Given the description of an element on the screen output the (x, y) to click on. 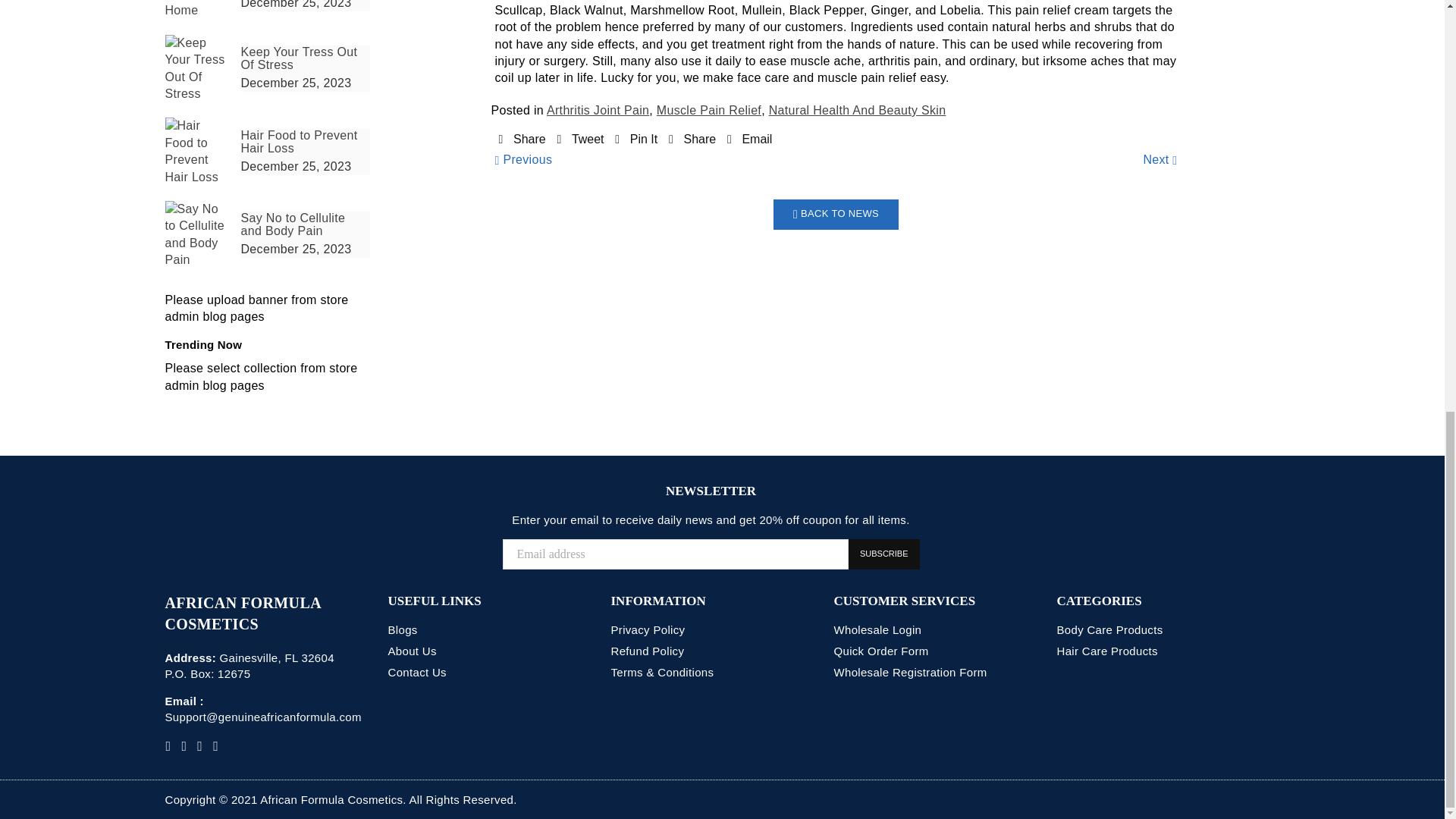
Natural Health And Beauty Skin (857, 110)
Previous (523, 159)
Tweet on Twitter (580, 139)
BACK TO NEWS (835, 214)
Muscle Pain Relief (708, 110)
Tweet (580, 139)
Share on Facebook (522, 139)
Share (522, 139)
Share on Linked In (692, 139)
Pin on Pinterest (636, 139)
Email (748, 139)
Share (692, 139)
Next (1159, 159)
Share by Email (748, 139)
Arthritis Joint Pain (598, 110)
